Given the description of an element on the screen output the (x, y) to click on. 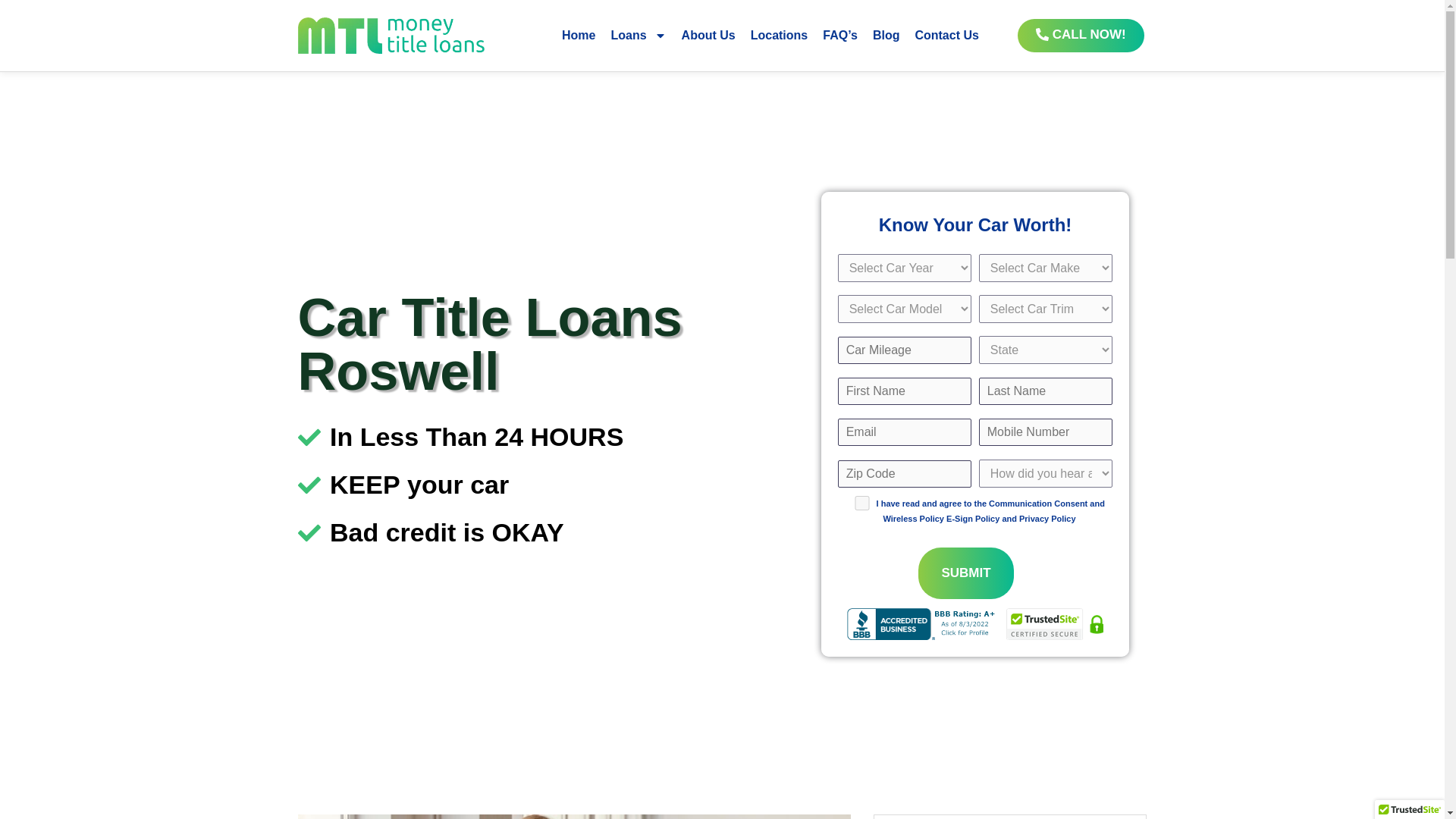
About Us (708, 35)
Home (578, 35)
Contact Us (946, 35)
Locations (778, 35)
Submit (965, 572)
1 (861, 503)
Blog (885, 35)
Loans (637, 35)
CALL NOW! (1080, 35)
